Given the description of an element on the screen output the (x, y) to click on. 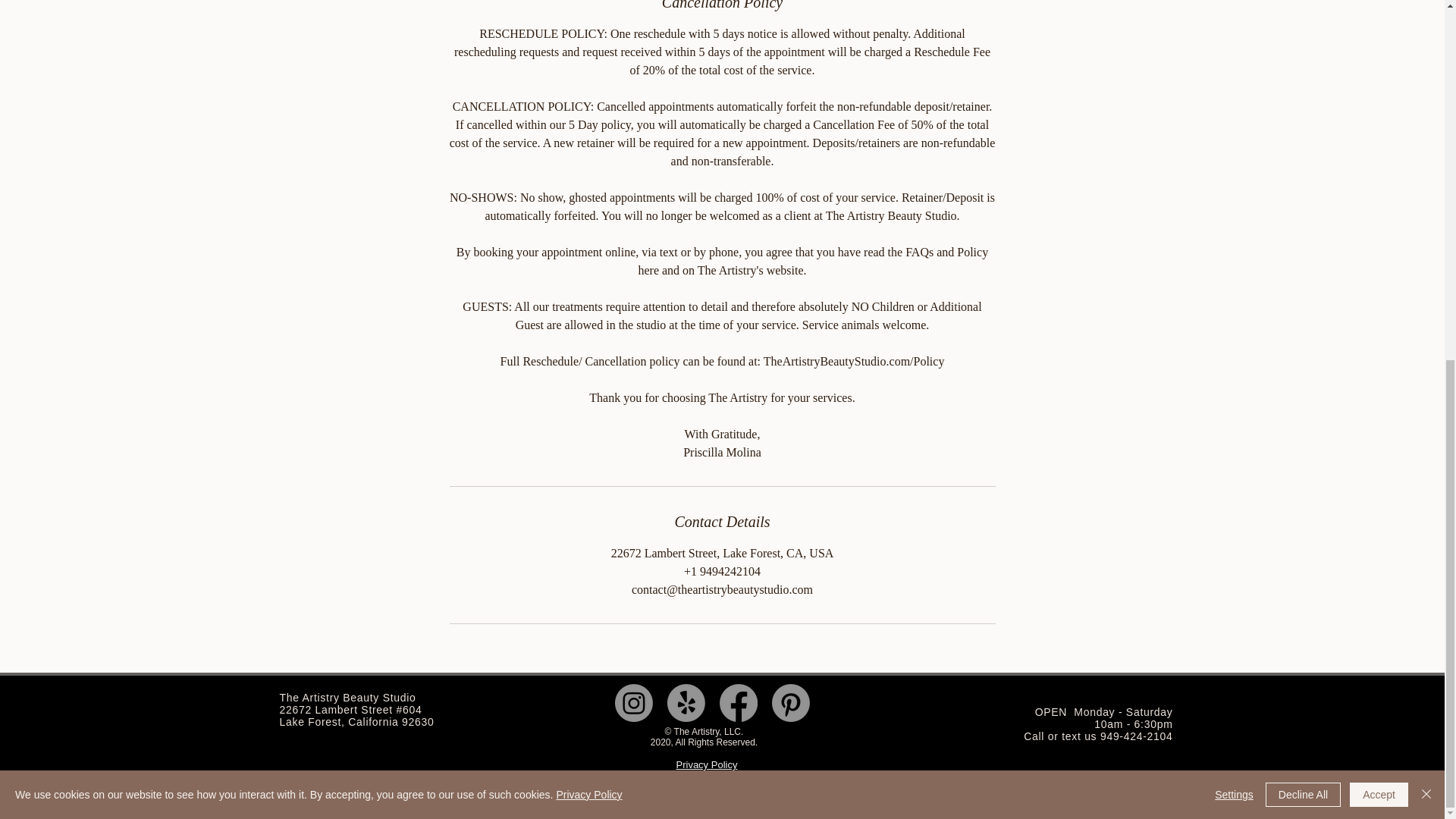
Privacy Policy (707, 764)
Decline All (1302, 155)
Privacy Policy (588, 155)
Accept (1378, 155)
